Given the description of an element on the screen output the (x, y) to click on. 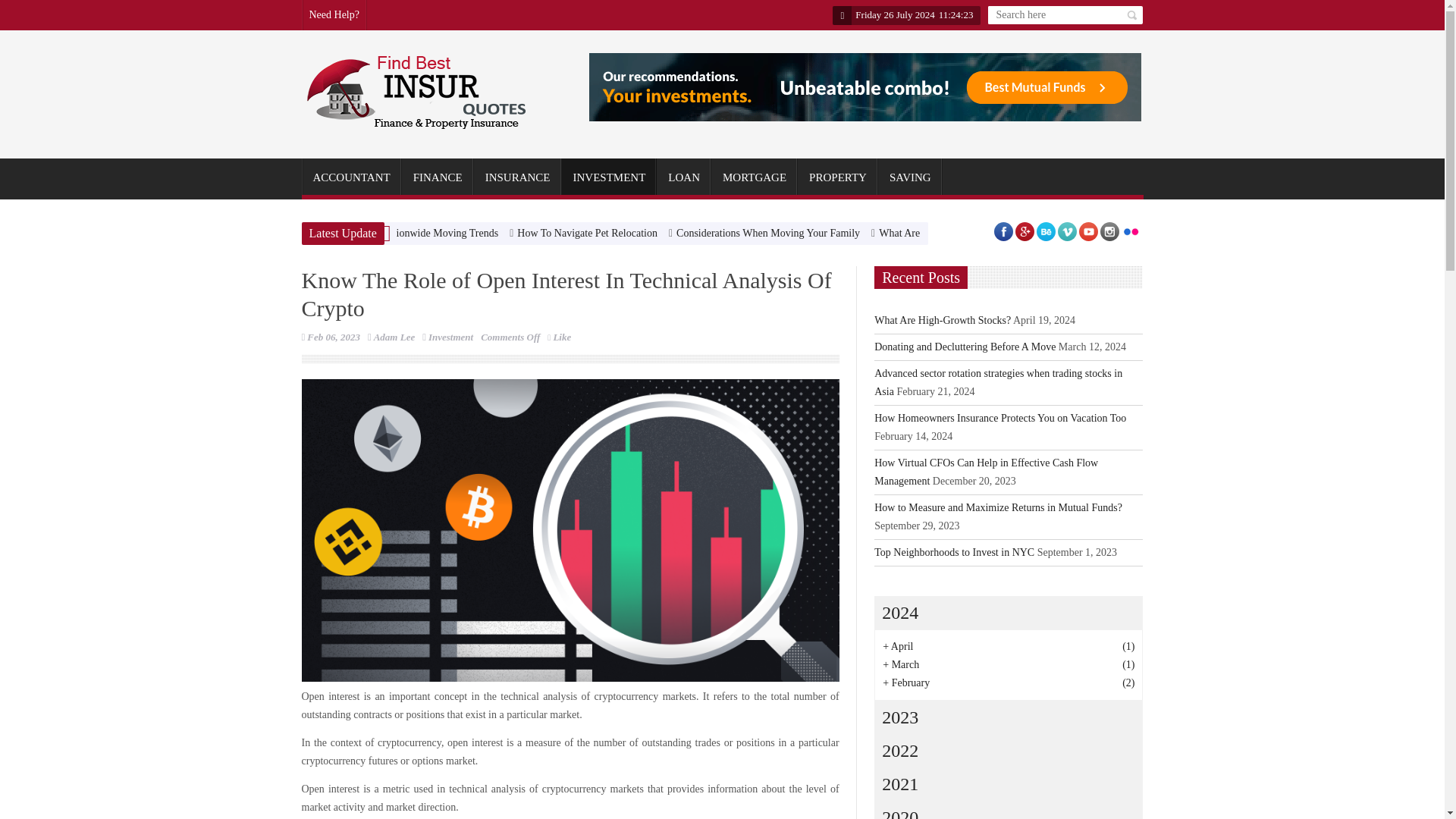
PROPERTY (837, 177)
Like (558, 337)
INSURANCE (518, 177)
Considerations When Moving Your Family (768, 233)
FINANCE (437, 177)
MORTGAGE (754, 177)
INVESTMENT (608, 177)
What Are High-Growth Stocks? (946, 233)
Adam Lee (394, 337)
Investment (450, 337)
Nationwide Moving Trends (438, 233)
How To Navigate Pet Relocation (587, 233)
Need Help? (333, 15)
ACCOUNTANT (351, 177)
LOAN (683, 177)
